Given the description of an element on the screen output the (x, y) to click on. 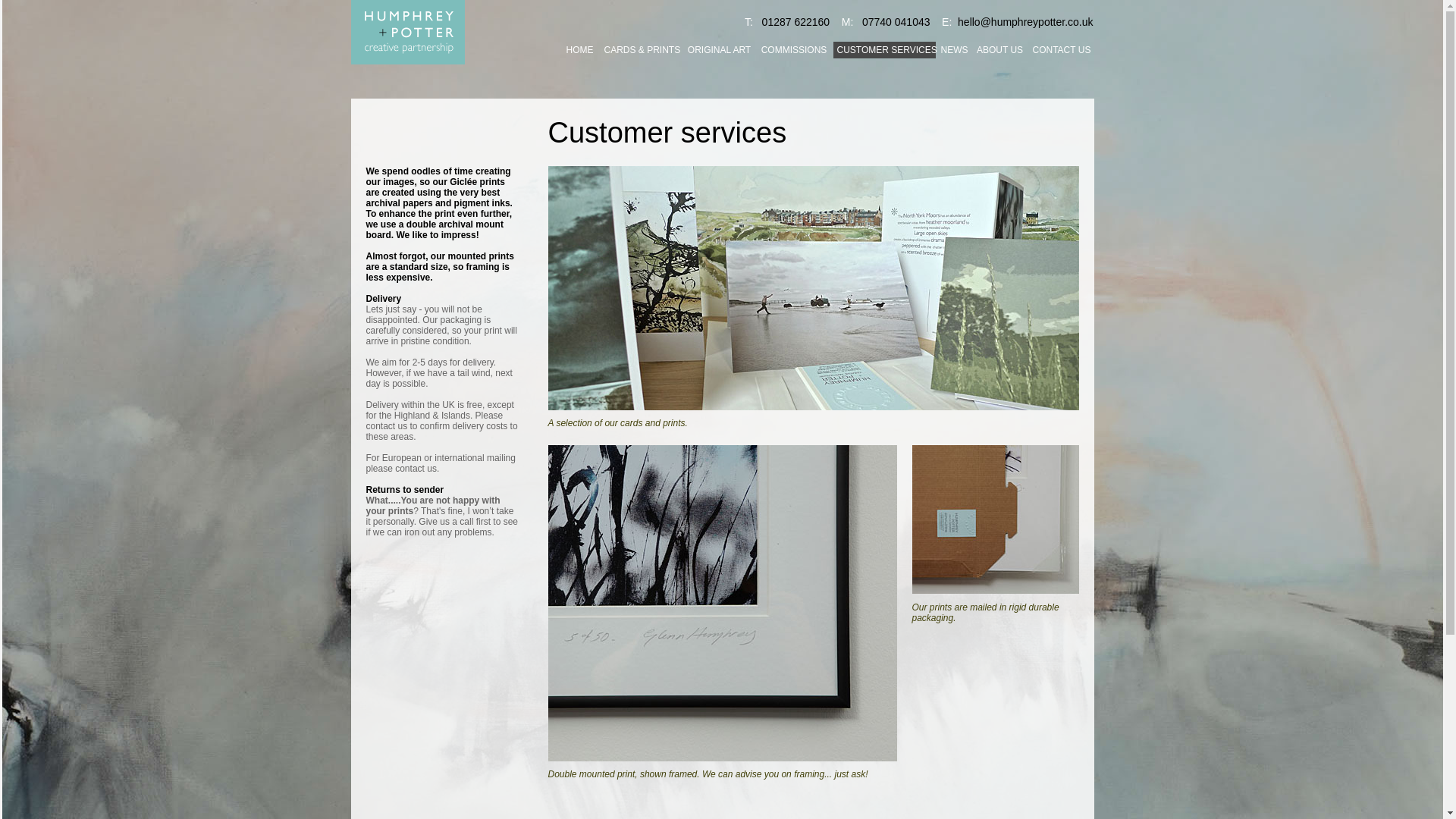
ABOUT US (999, 49)
HOME (579, 49)
ORIGINAL ART (719, 49)
COMMISSIONS (794, 49)
NEWS (954, 49)
CUSTOMER SERVICES (883, 49)
CONTACT US (1060, 49)
